Given the description of an element on the screen output the (x, y) to click on. 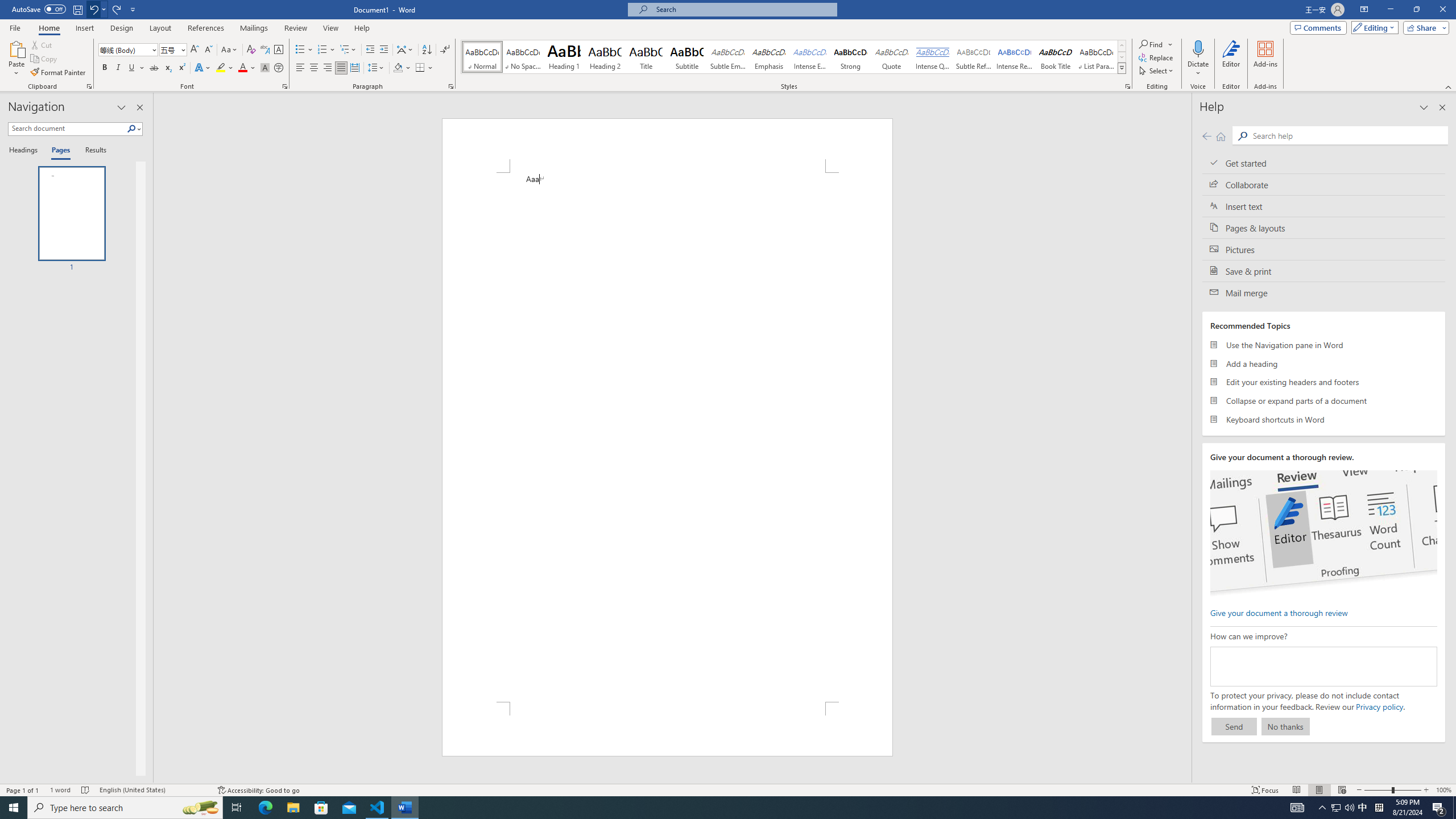
Class: MsoCommandBar (728, 789)
Language English (United States) (152, 790)
Office Clipboard... (88, 85)
Zoom 100% (1443, 790)
Headings (25, 150)
How can we improve? (1323, 666)
